Given the description of an element on the screen output the (x, y) to click on. 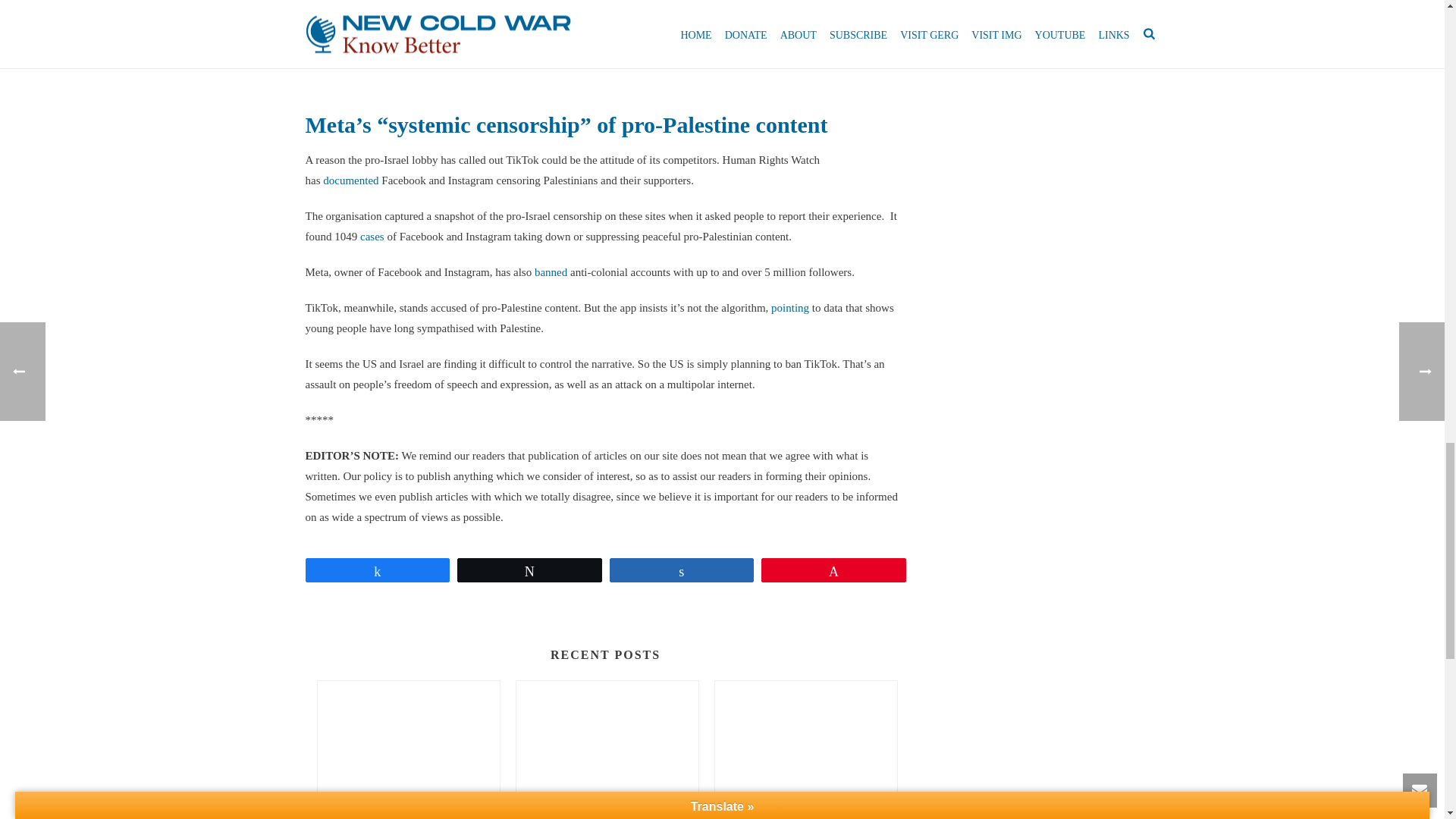
How China is Creating Prosperity (805, 749)
